Given the description of an element on the screen output the (x, y) to click on. 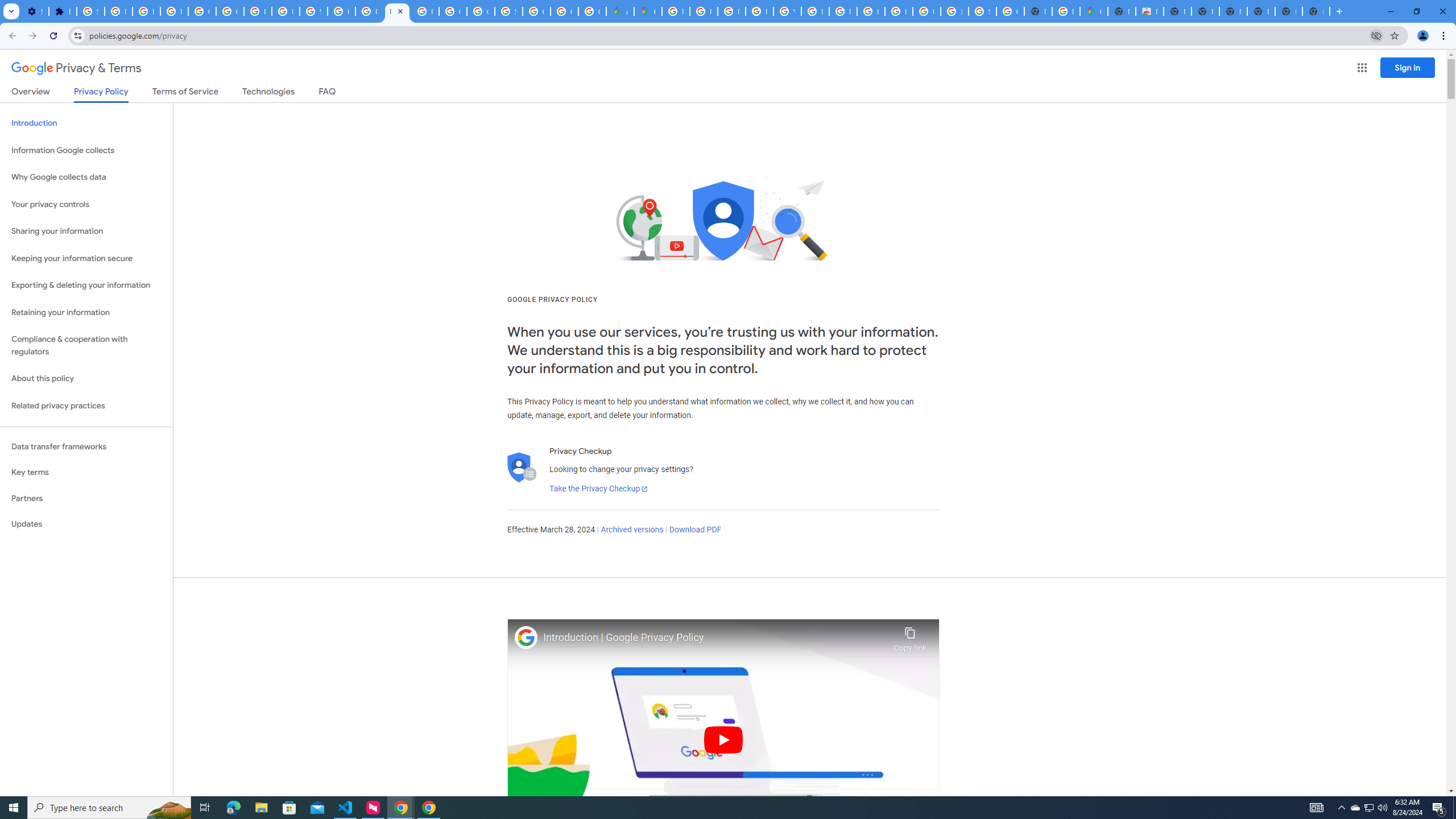
https://scholar.google.com/ (341, 11)
Updates (86, 524)
Overview (30, 93)
Key terms (86, 472)
Download PDF (695, 529)
Sharing your information (86, 230)
